Given the description of an element on the screen output the (x, y) to click on. 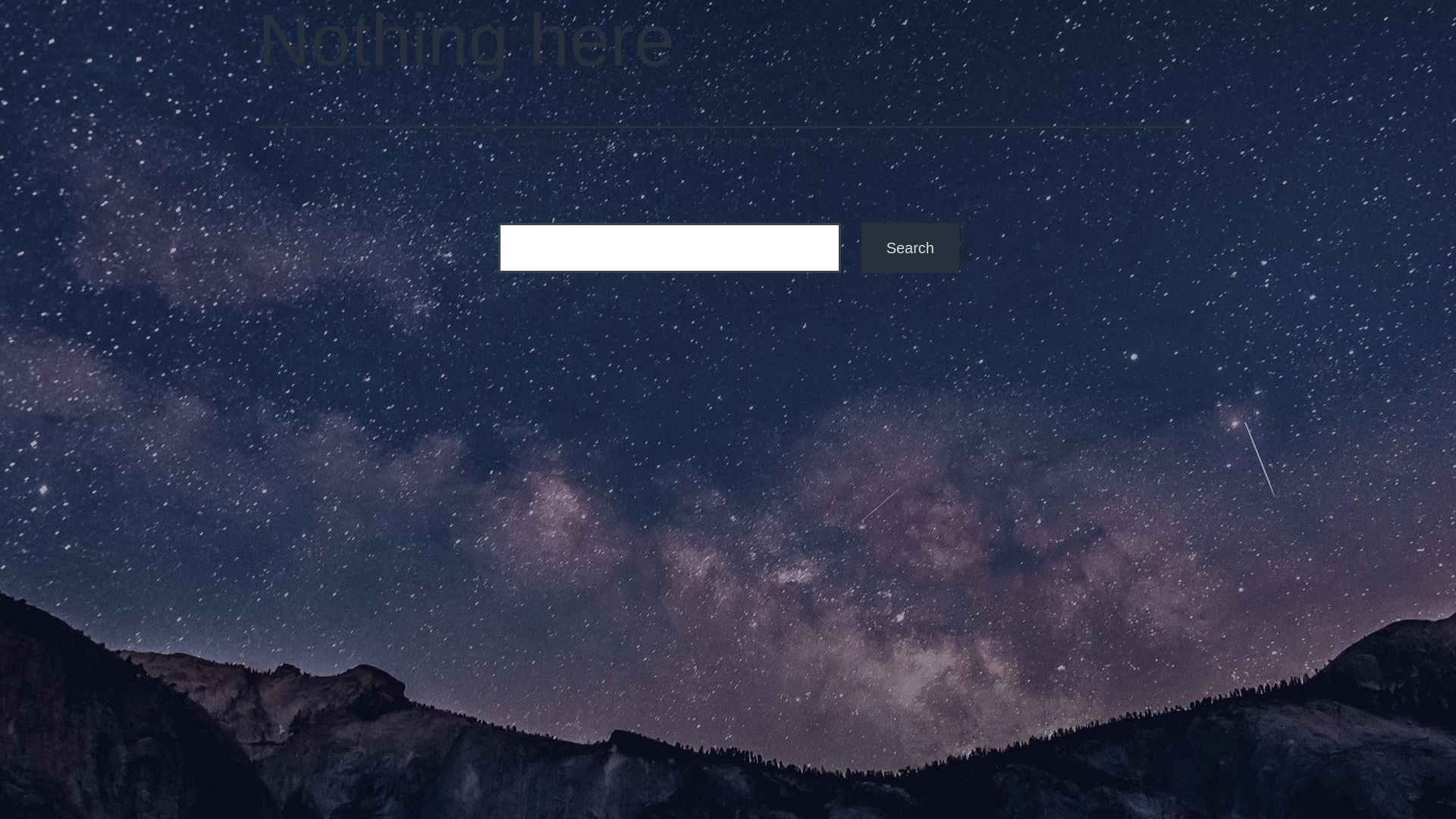
Search Element type: text (910, 247)
